Given the description of an element on the screen output the (x, y) to click on. 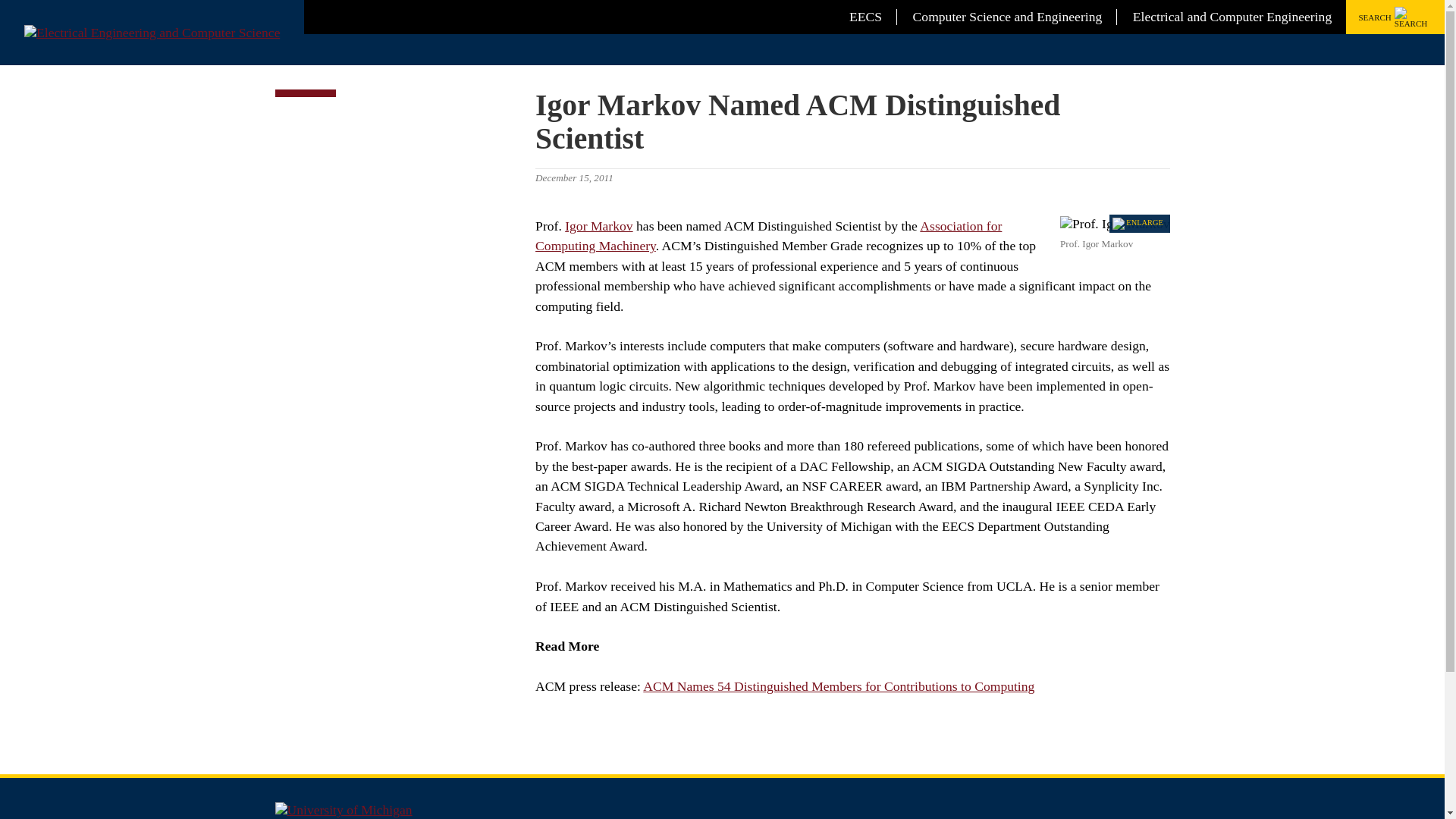
Computer Science and Engineering (1007, 16)
EECS (865, 16)
Electrical and Computer Engineering (1232, 16)
Association for Computing Machinery (768, 235)
Igor Markov (597, 225)
